Given the description of an element on the screen output the (x, y) to click on. 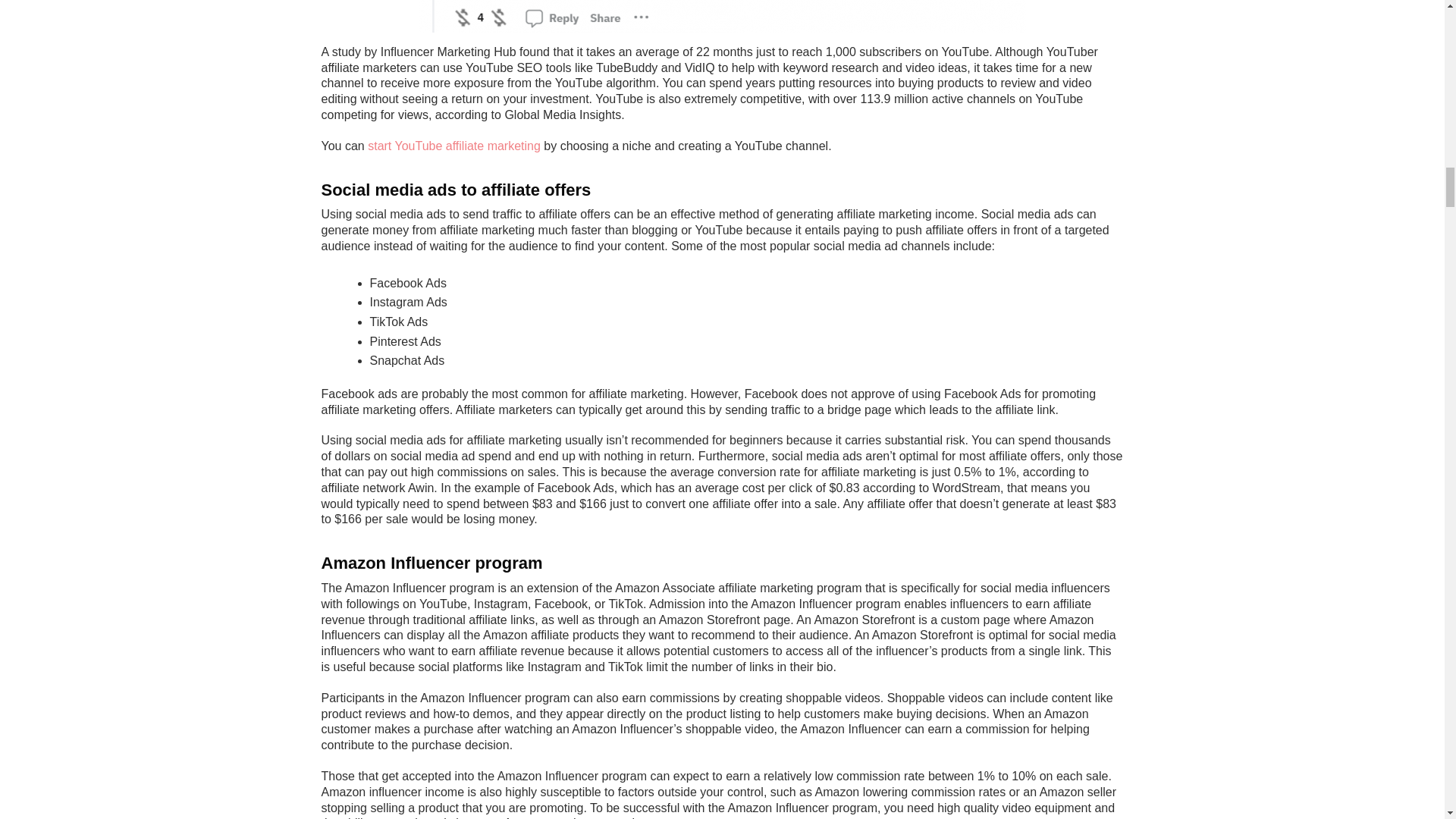
start YouTube affiliate marketing (454, 145)
reddit user YouTube affiliate marketing conversion rate (722, 16)
